Given the description of an element on the screen output the (x, y) to click on. 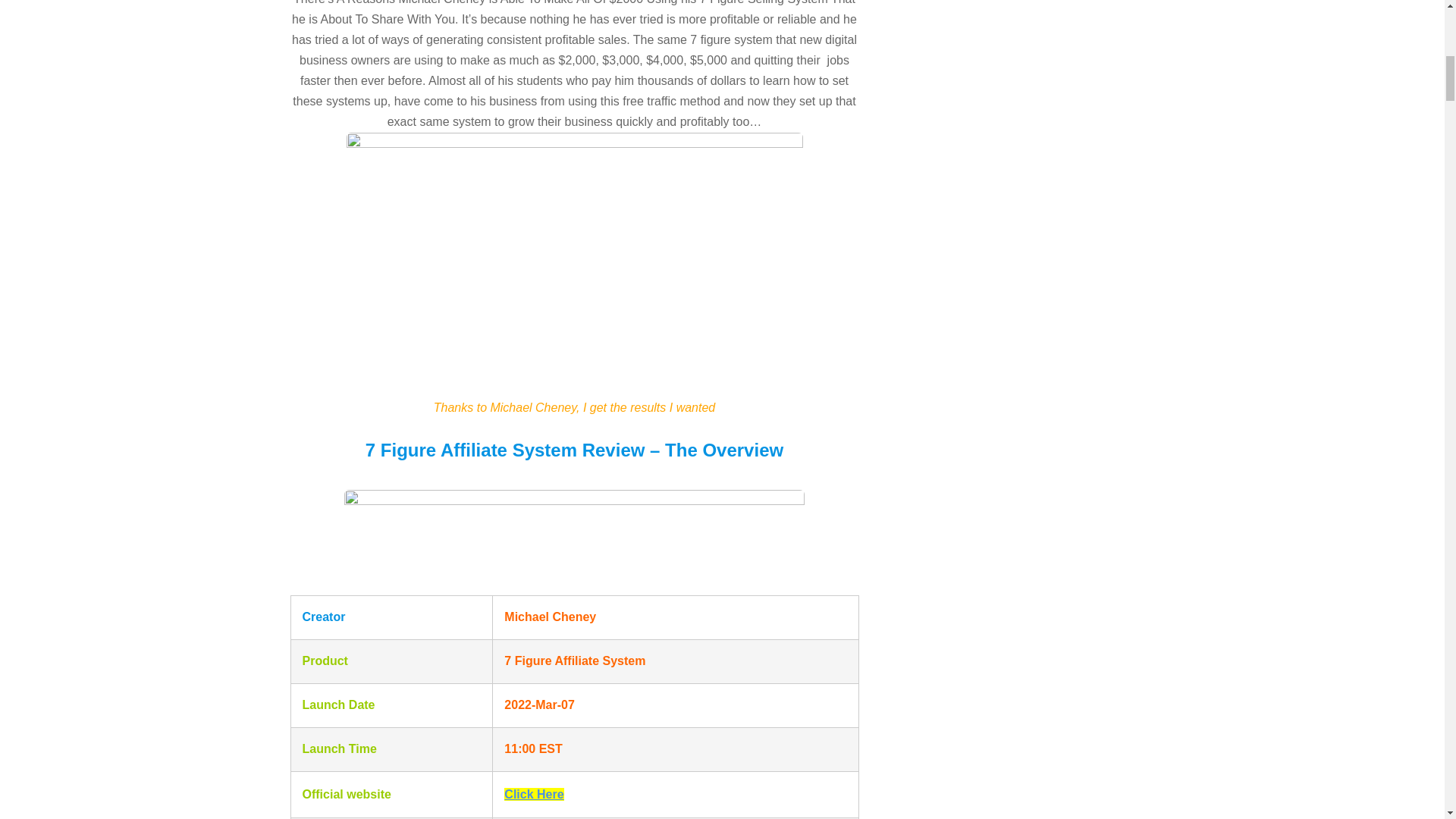
Click Here (533, 793)
